Given the description of an element on the screen output the (x, y) to click on. 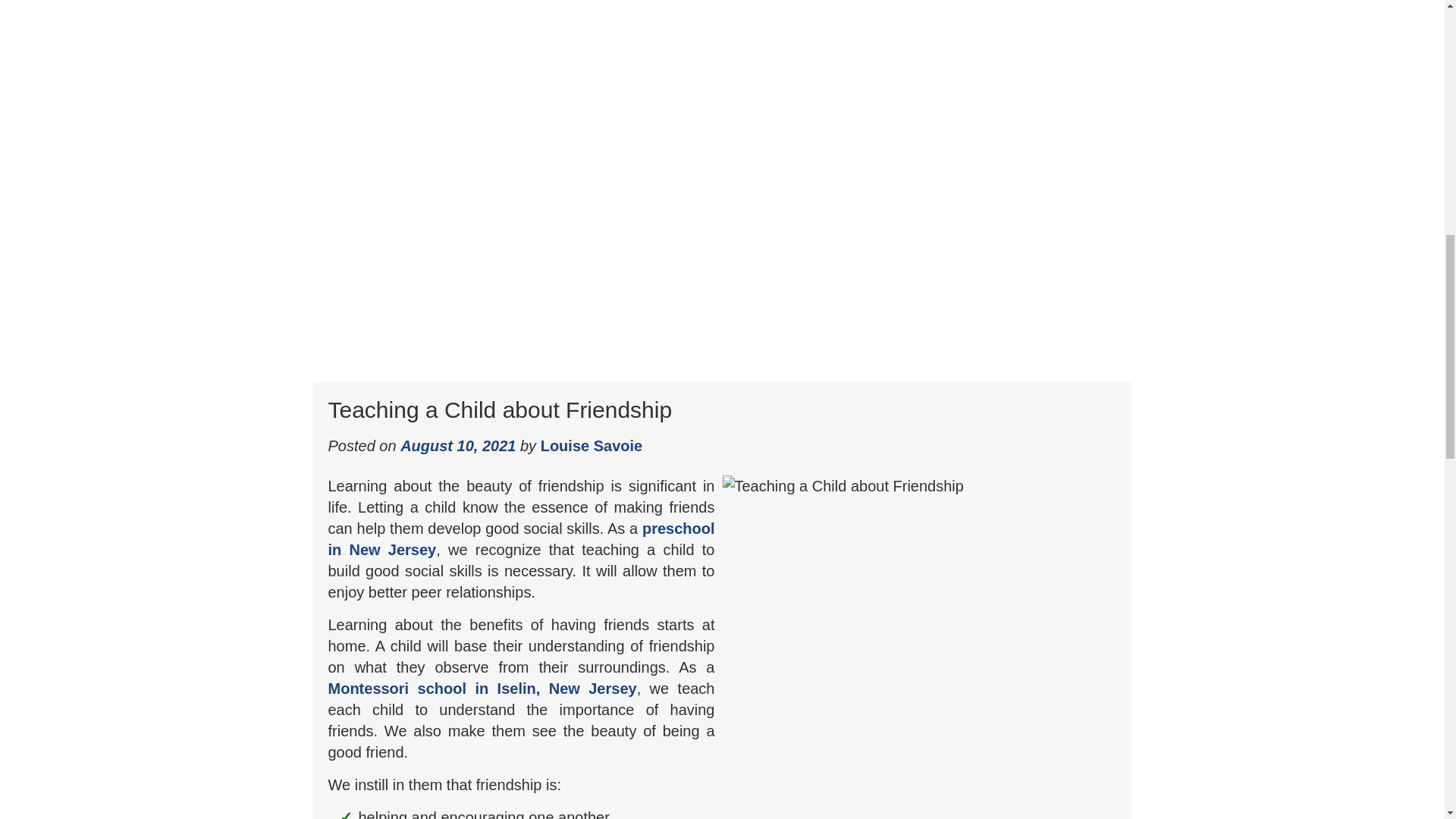
preschool in New Jersey (520, 538)
10:22 am (457, 444)
August 10, 2021 (457, 444)
Louise Savoie (591, 444)
Montessori school in Iselin, New Jersey (481, 687)
View all posts by Louise Savoie (591, 444)
